Given the description of an element on the screen output the (x, y) to click on. 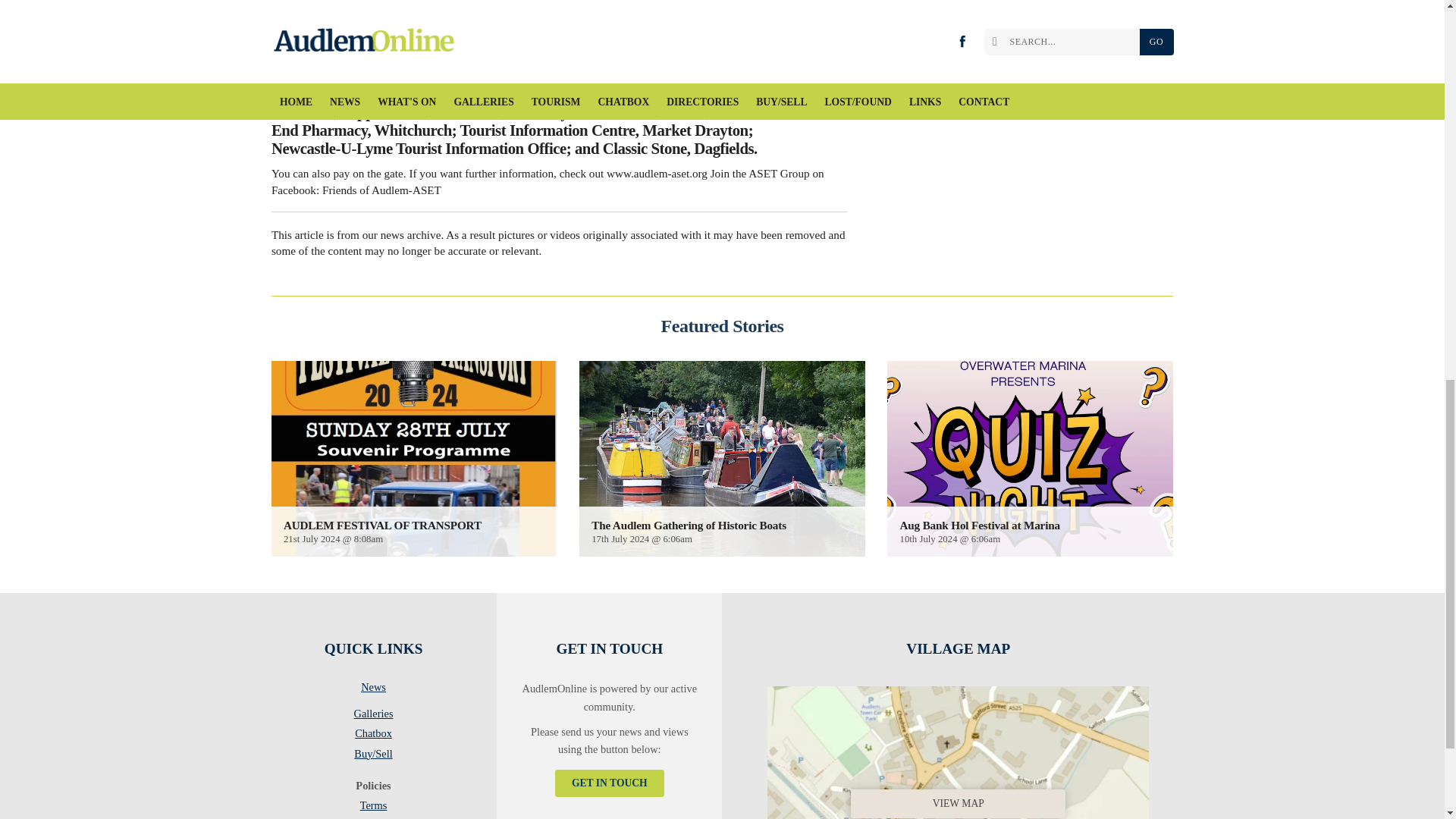
VIEW MAP (957, 749)
GET IN TOUCH (608, 782)
Featured Stories (722, 325)
Galleries (373, 716)
News (373, 690)
Chatbox (373, 736)
Terms (373, 808)
